Given the description of an element on the screen output the (x, y) to click on. 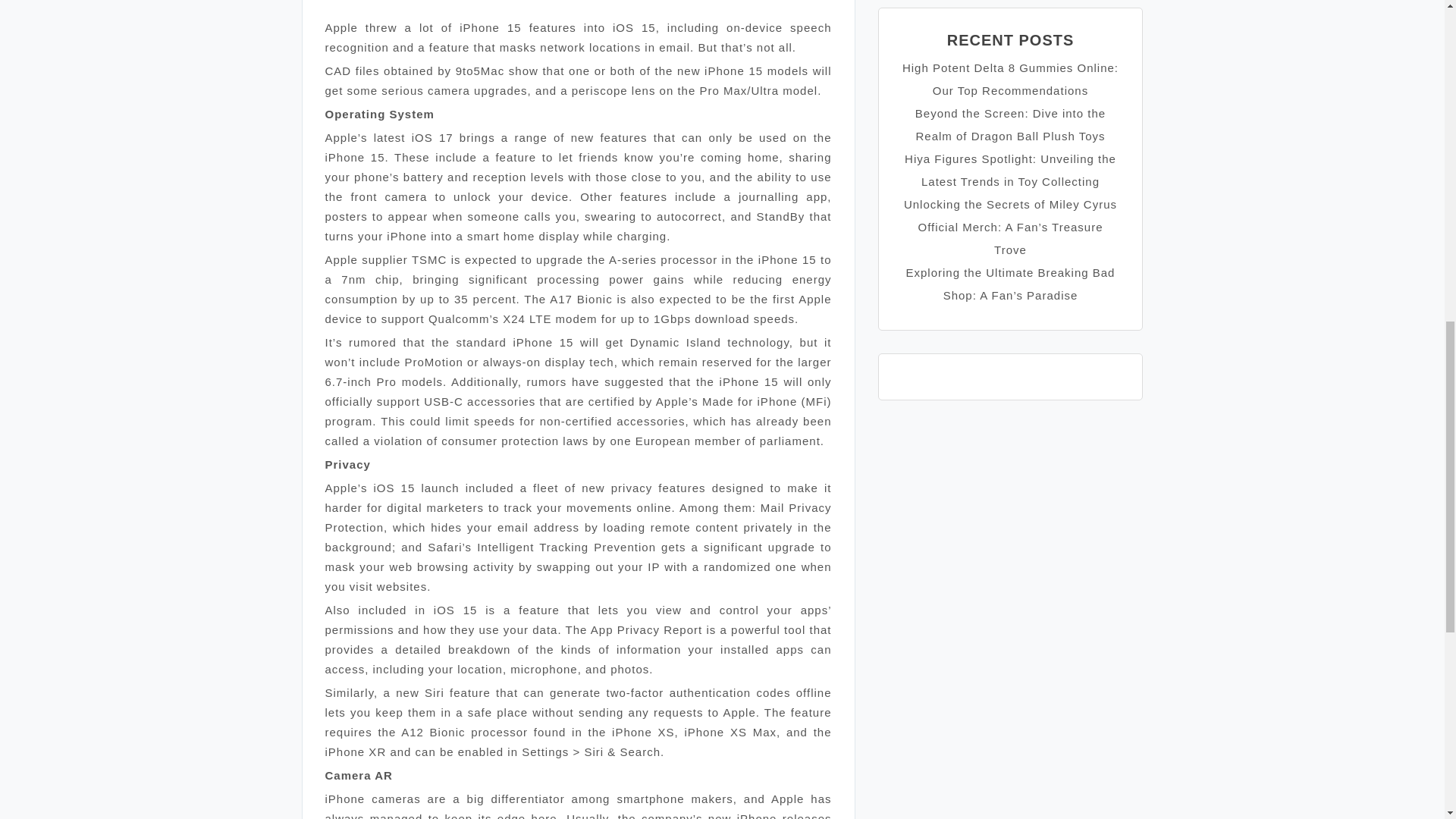
High Potent Delta 8 Gummies Online: Our Top Recommendations (1010, 79)
